Given the description of an element on the screen output the (x, y) to click on. 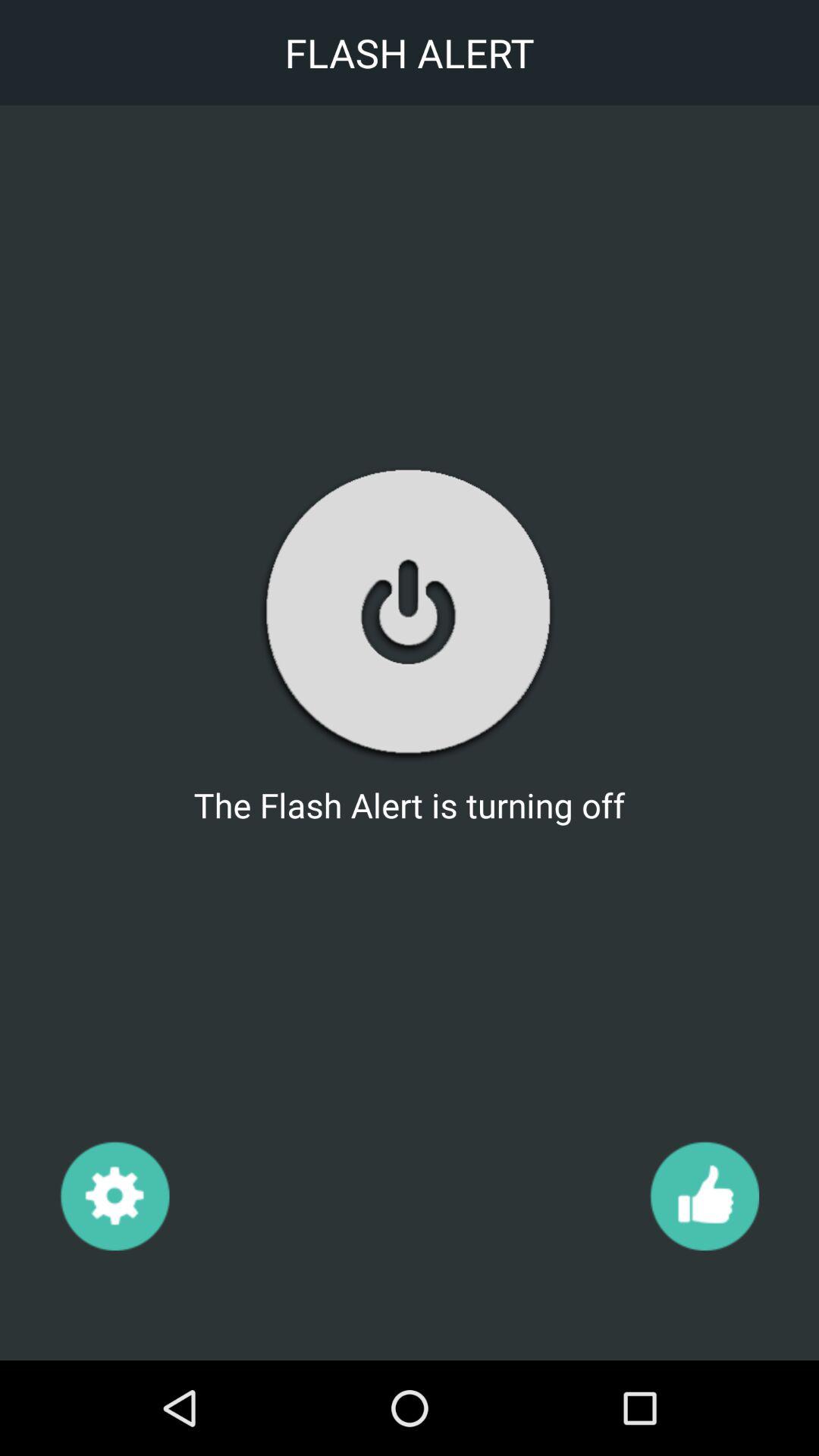
settings (114, 1195)
